Given the description of an element on the screen output the (x, y) to click on. 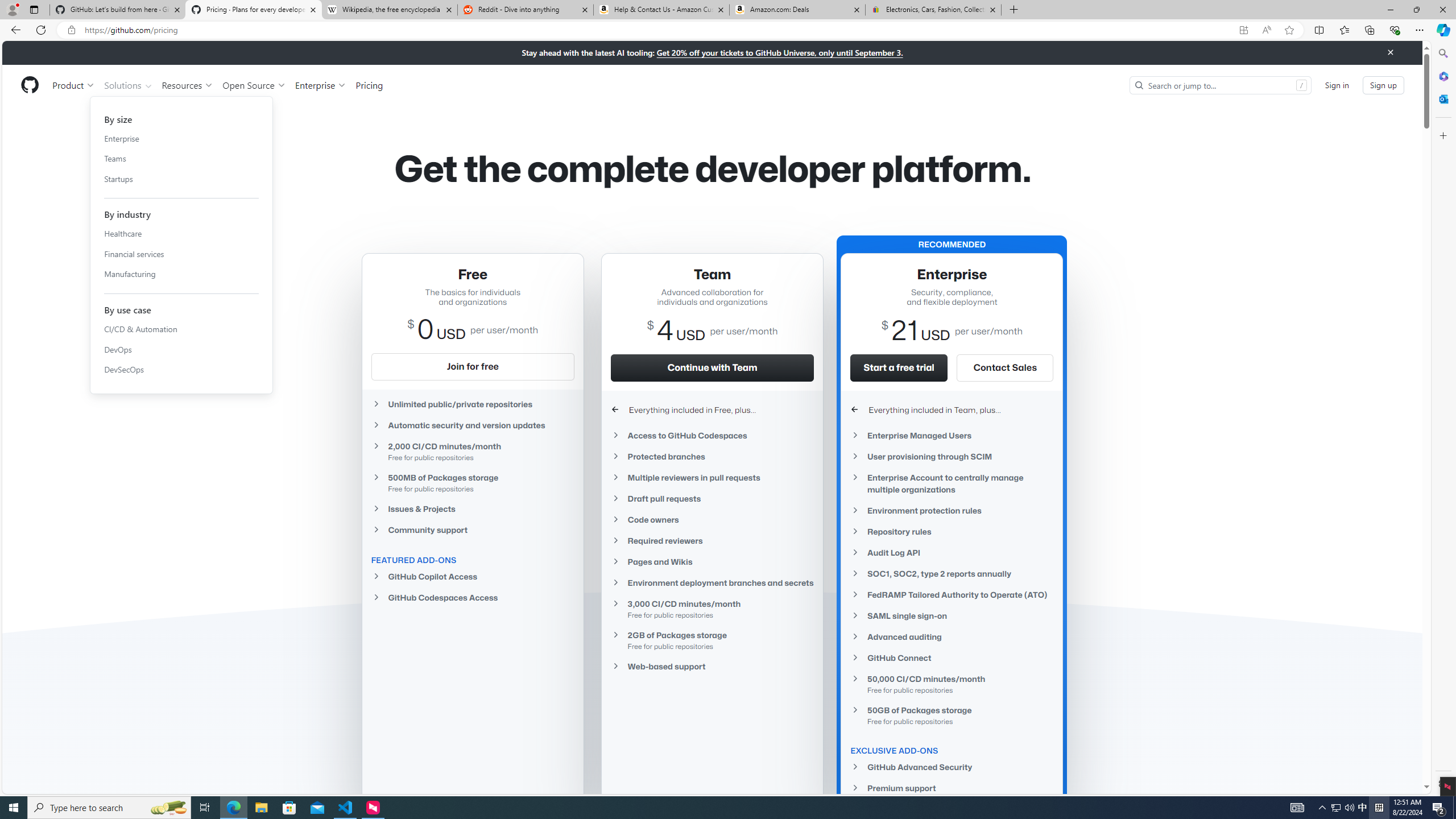
Environment deployment branches and secrets (711, 582)
GitHub Codespaces Access (473, 597)
50,000 CI/CD minutes/month Free for public repositories (952, 684)
500MB of Packages storageFree for public repositories (473, 482)
2,000 CI/CD minutes/month Free for public repositories (473, 451)
Community support (473, 529)
Audit Log API (952, 552)
Contact Sales (1005, 367)
SOC1, SOC2, type 2 reports annually (952, 573)
Draft pull requests (711, 498)
500MB of Packages storage Free for public repositories (473, 482)
